Given the description of an element on the screen output the (x, y) to click on. 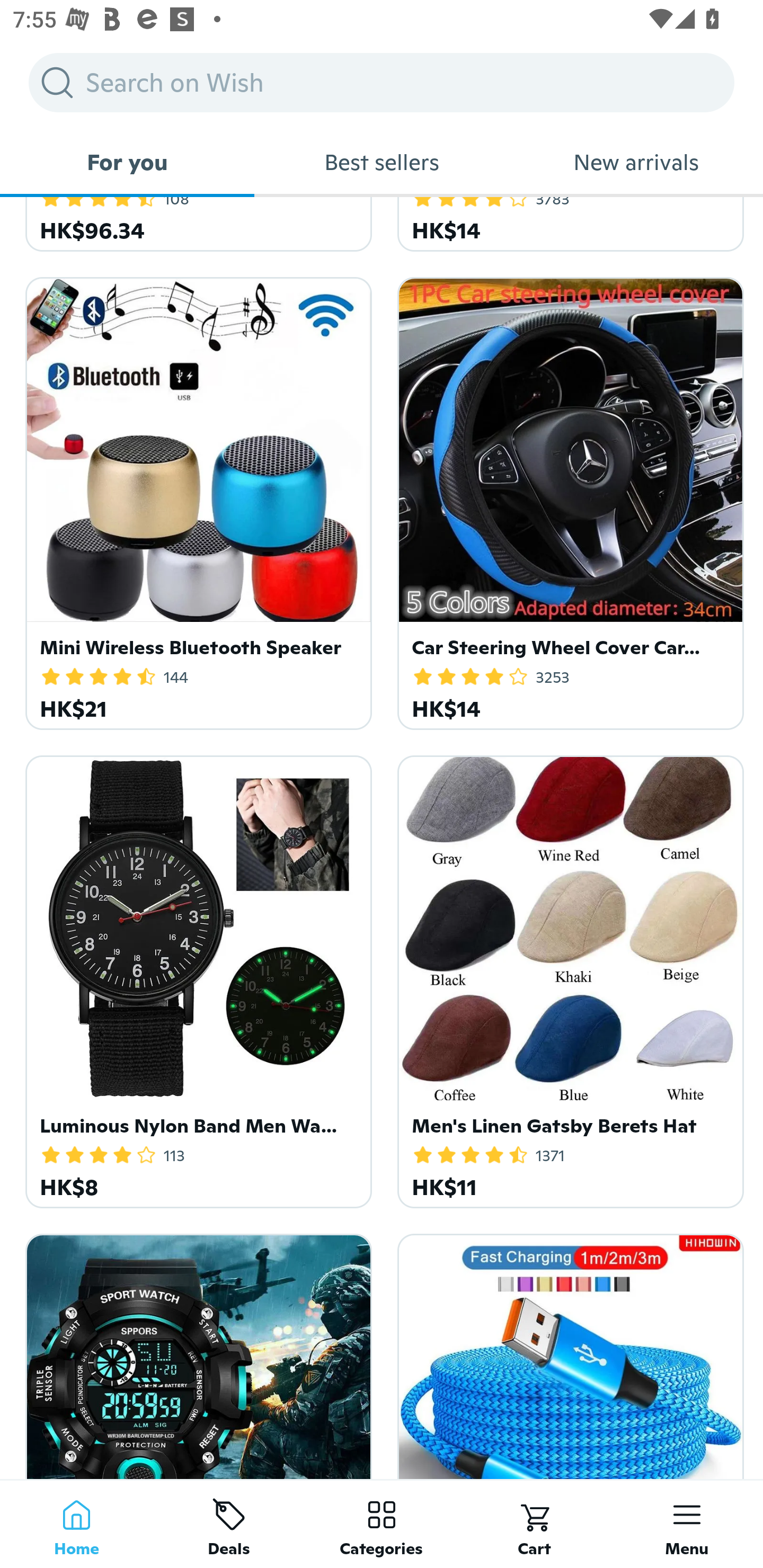
Search on Wish (381, 82)
For you (127, 161)
Best sellers (381, 161)
New arrivals (635, 161)
Home (76, 1523)
Deals (228, 1523)
Categories (381, 1523)
Cart (533, 1523)
Menu (686, 1523)
